Given the description of an element on the screen output the (x, y) to click on. 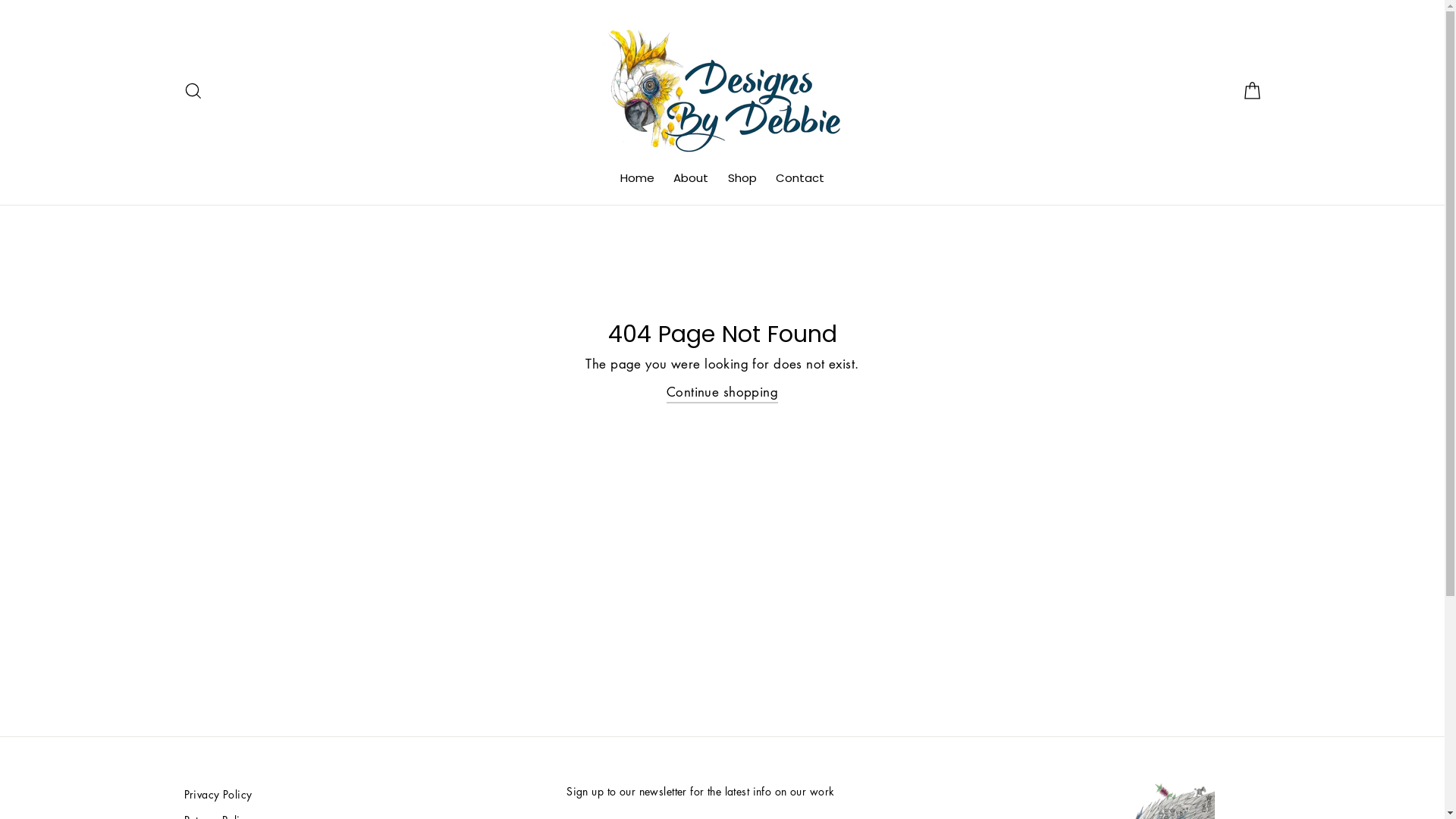
About Element type: text (690, 177)
Skip to content Element type: text (0, 0)
Contact Element type: text (799, 177)
Continue shopping Element type: text (722, 392)
Privacy Policy Element type: text (366, 794)
Shop Element type: text (742, 177)
Cart Element type: text (1251, 90)
Home Element type: text (637, 177)
